Given the description of an element on the screen output the (x, y) to click on. 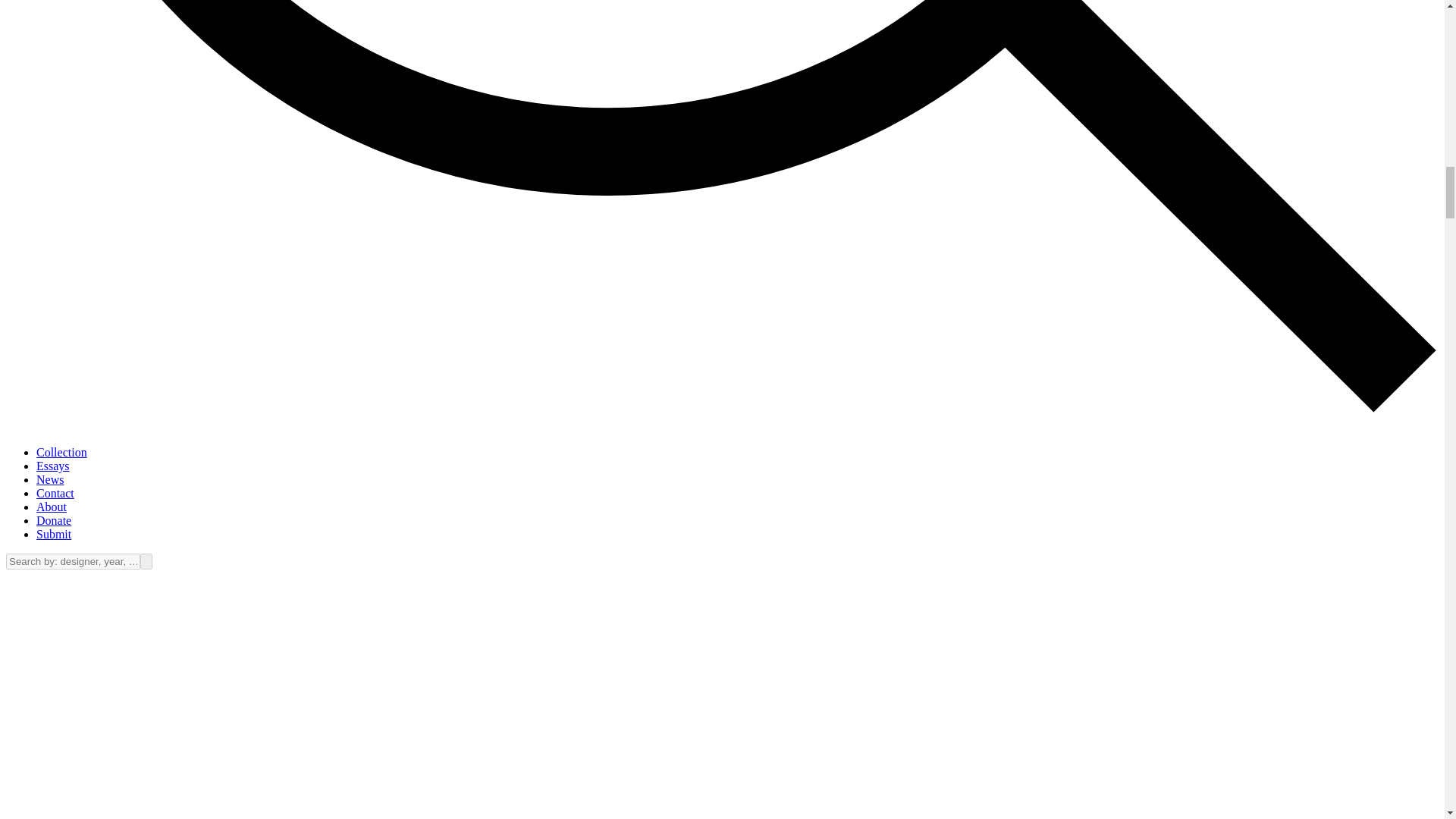
Donate (53, 520)
Submit (53, 533)
Collection (61, 451)
News (50, 479)
About (51, 506)
Essays (52, 465)
Contact (55, 492)
